Given the description of an element on the screen output the (x, y) to click on. 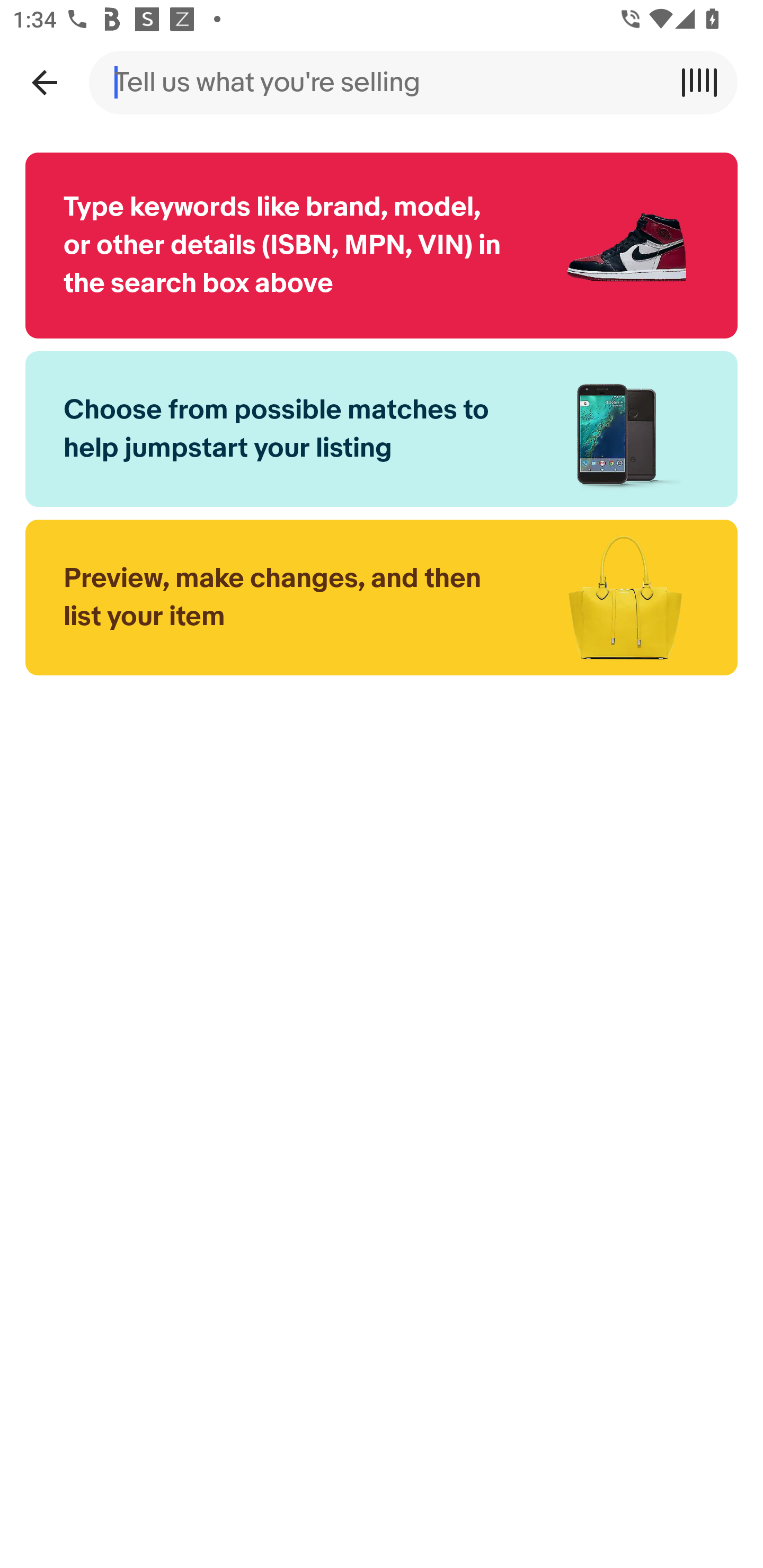
Navigate up (44, 82)
Scan a barcode (705, 82)
Tell us what you're selling (381, 82)
